Given the description of an element on the screen output the (x, y) to click on. 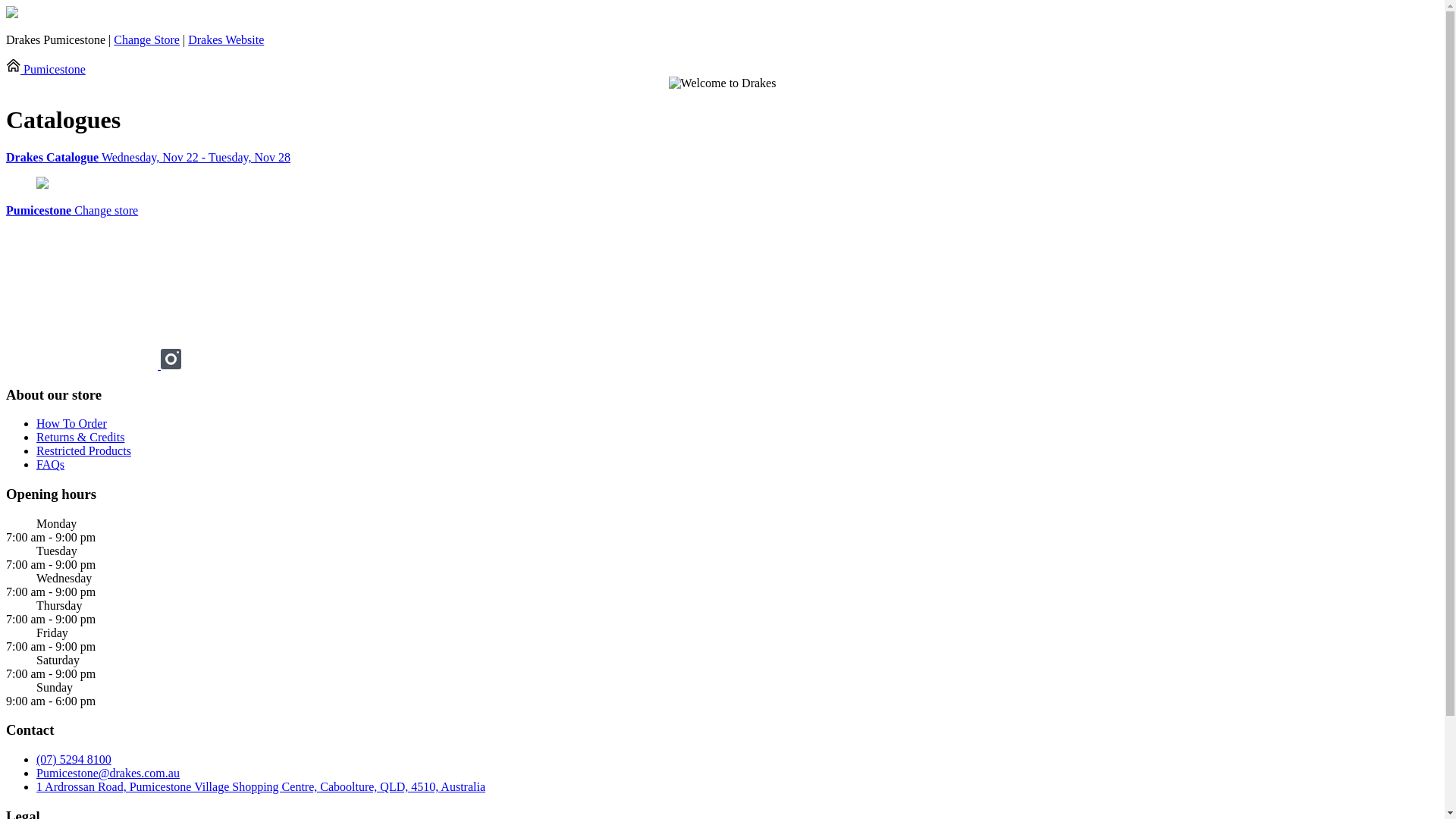
Instagram drakessupermarkets Element type: hover (170, 364)
Pumicestone@drakes.com.au Element type: text (107, 772)
Returns & Credits Element type: text (80, 436)
Pumicestone Change store Element type: text (72, 209)
Drakes Catalogue Wednesday, Nov 22 - Tuesday, Nov 28 Element type: text (722, 156)
Change Store Element type: text (146, 39)
Drakes Website Element type: text (225, 39)
How To Order Element type: text (71, 423)
Facebook Element type: hover (83, 364)
Restricted Products Element type: text (83, 450)
Pumicestone Element type: text (45, 68)
FAQs Element type: text (50, 464)
(07) 5294 8100 Element type: text (73, 759)
